Given the description of an element on the screen output the (x, y) to click on. 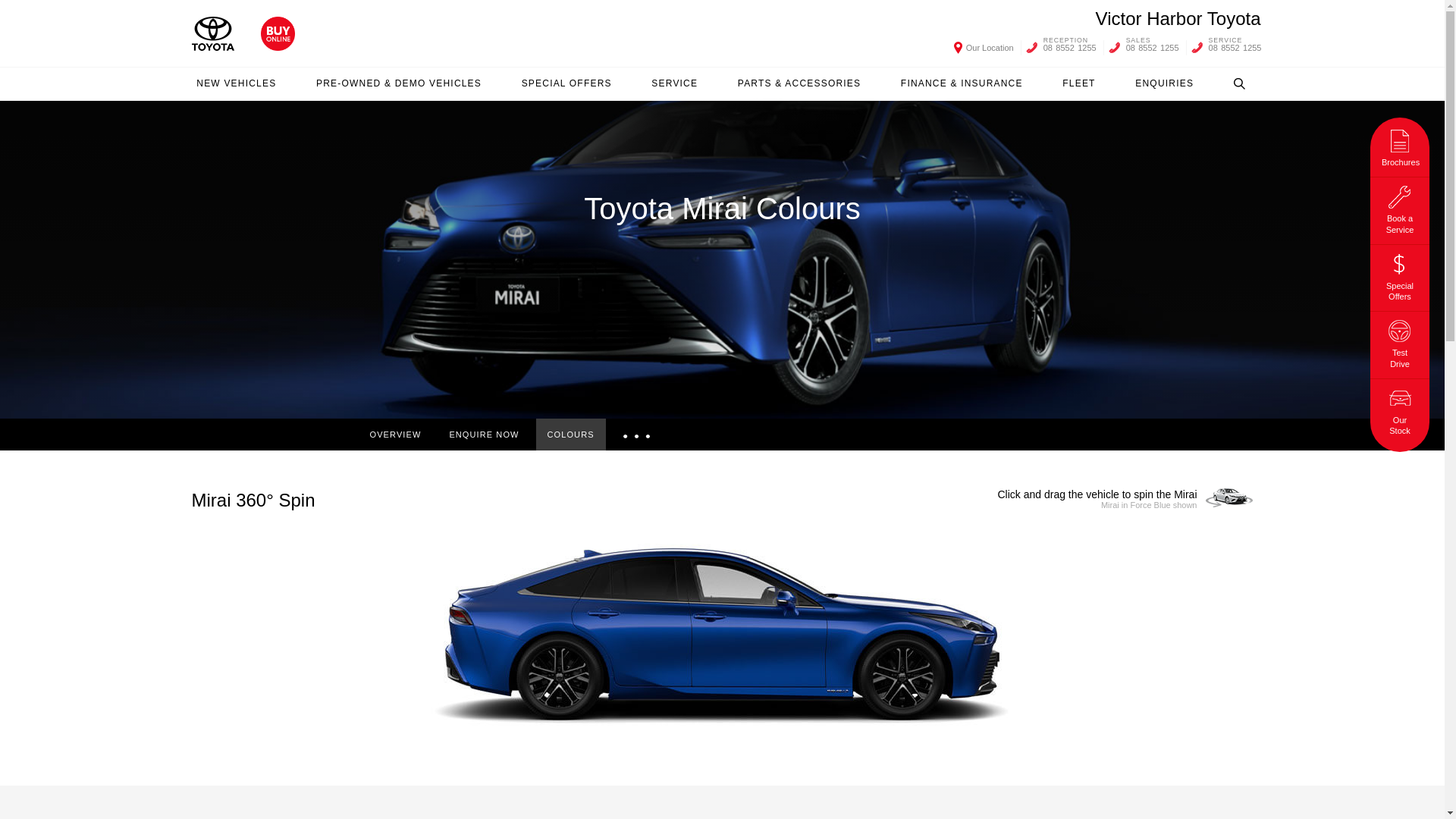
NEW VEHICLES (235, 83)
Brochures (1399, 146)
Buy Online (277, 33)
Victor Harbor Toyota (1178, 18)
Our Stock (1399, 409)
Victor Harbor Toyota (211, 33)
Victor Harbor Toyota (1178, 18)
Test Drive (1399, 342)
Book a Service (1399, 207)
Special Offers (1399, 275)
